Given the description of an element on the screen output the (x, y) to click on. 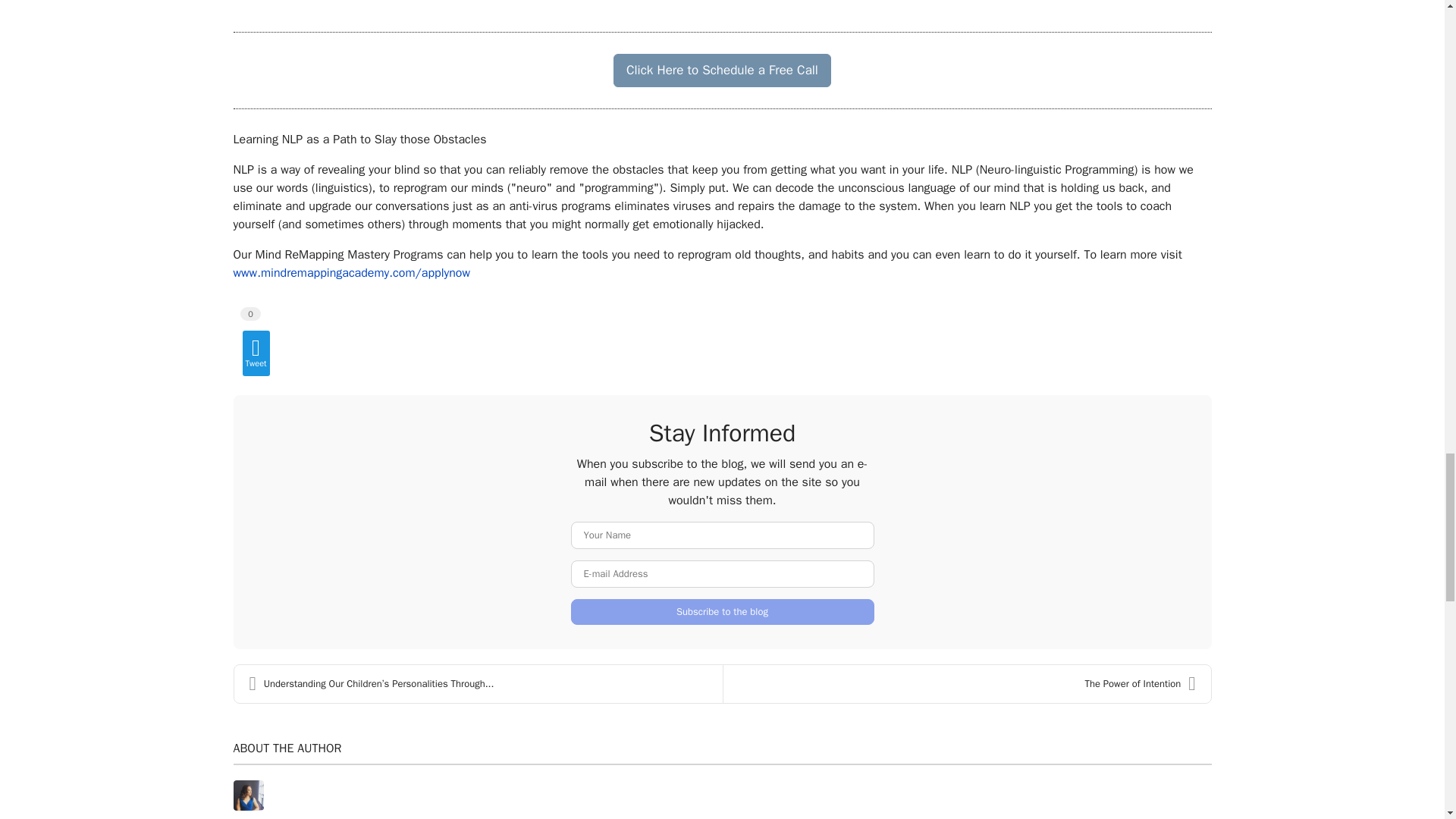
Click Here to Schedule a Free Call (721, 70)
Subscribe to the blog (721, 611)
The Power of Intention (967, 683)
0 (250, 312)
Maiysha Claiborne MD (292, 818)
0 votes (250, 314)
